Given the description of an element on the screen output the (x, y) to click on. 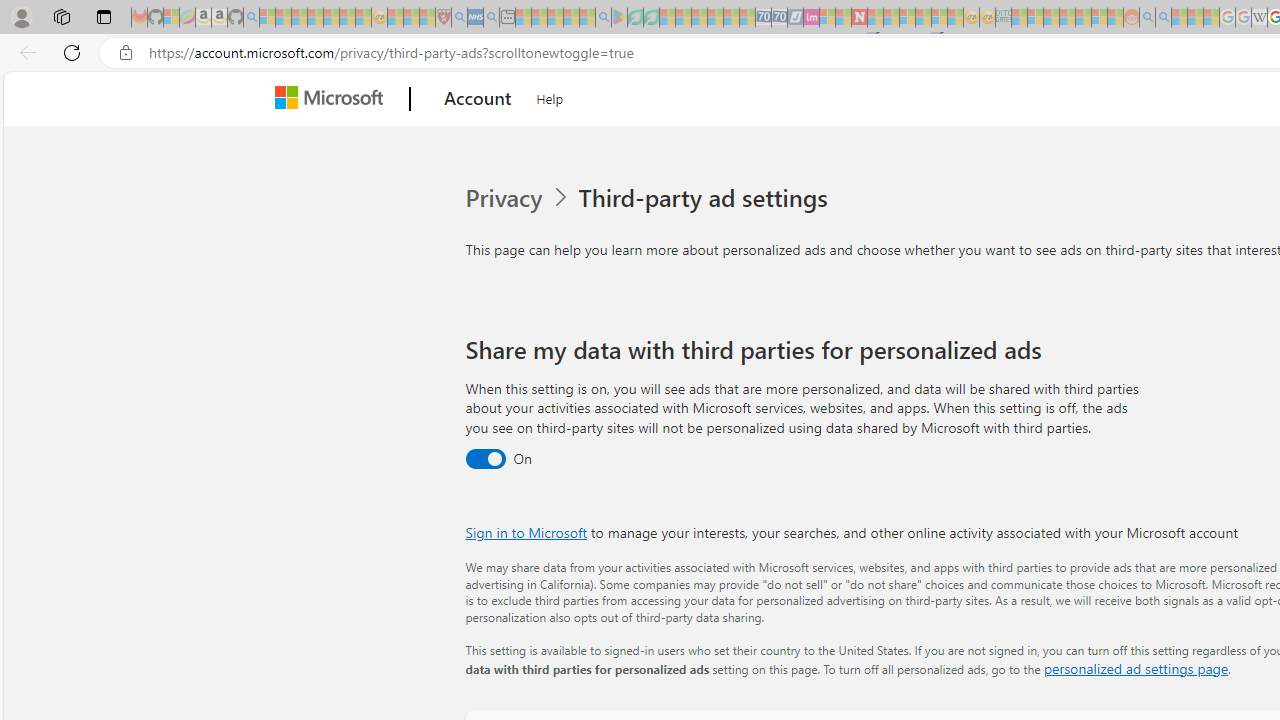
personalized ad settings page (1135, 668)
